Given the description of an element on the screen output the (x, y) to click on. 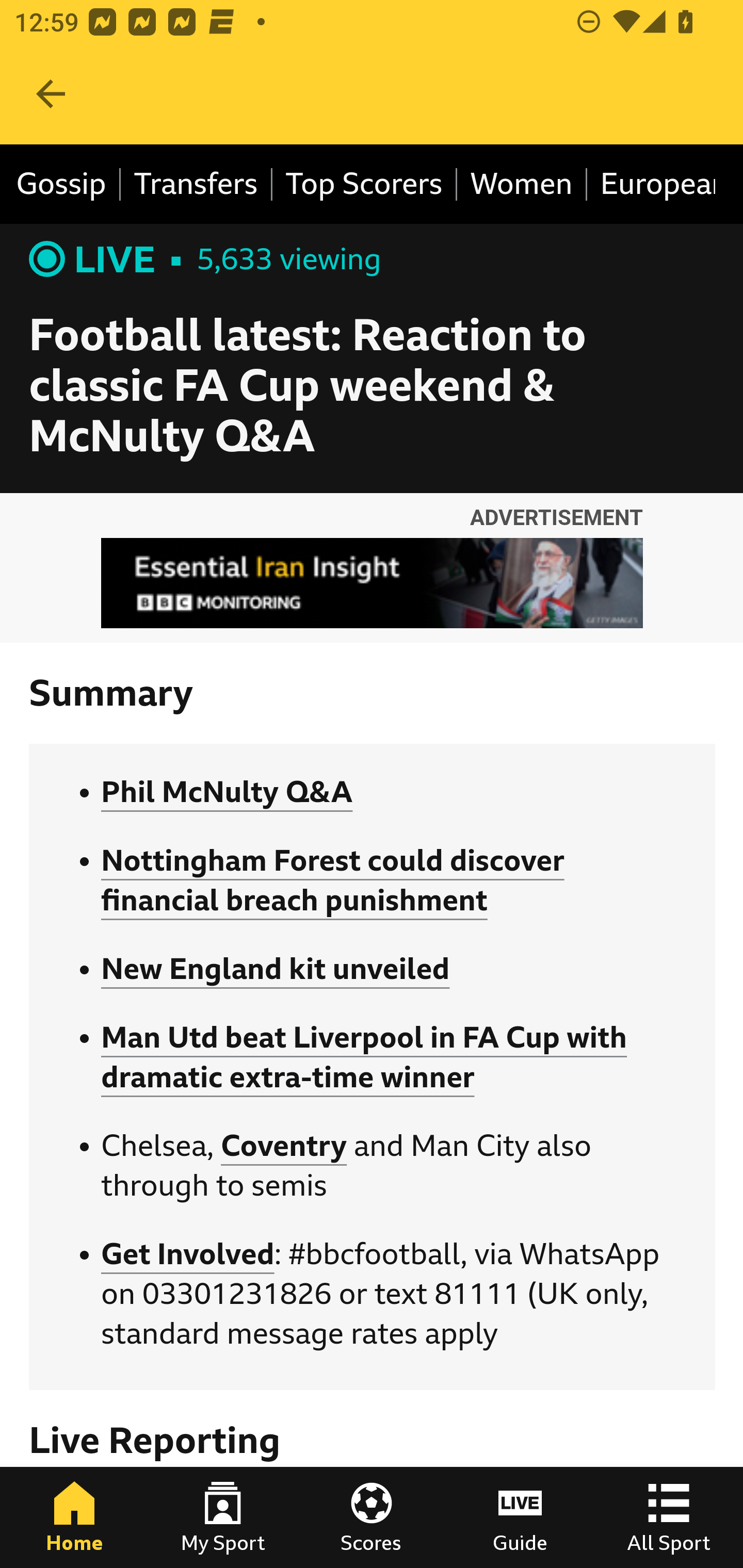
Navigate up (50, 93)
Gossip (68, 184)
Transfers (196, 184)
Top Scorers (364, 184)
Women (522, 184)
European (651, 184)
Phil McNulty Q&A (227, 792)
New England kit unveiled (276, 969)
Coventry (284, 1145)
Get Involved (187, 1254)
My Sport (222, 1517)
Scores (371, 1517)
Guide (519, 1517)
All Sport (668, 1517)
